Given the description of an element on the screen output the (x, y) to click on. 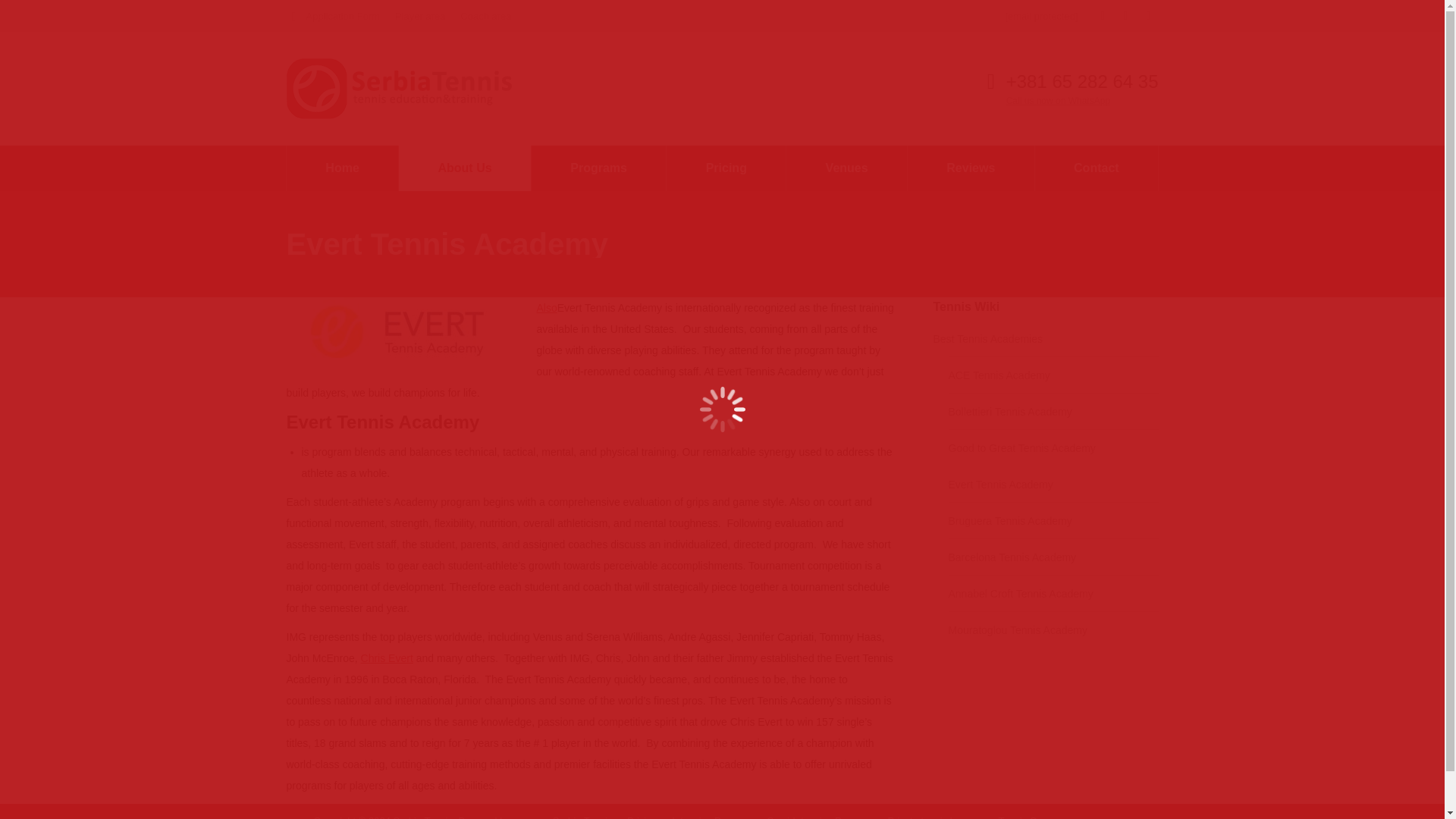
Instagram page opens in new window (1125, 15)
Player area (419, 16)
Facebook page opens in new window (1103, 15)
Coach area (485, 16)
Facebook page opens in new window (1103, 15)
Programs (598, 167)
Instagram page opens in new window (1125, 15)
YouTube page opens in new window (1148, 15)
YouTube page opens in new window (1148, 15)
Home (342, 167)
